Given the description of an element on the screen output the (x, y) to click on. 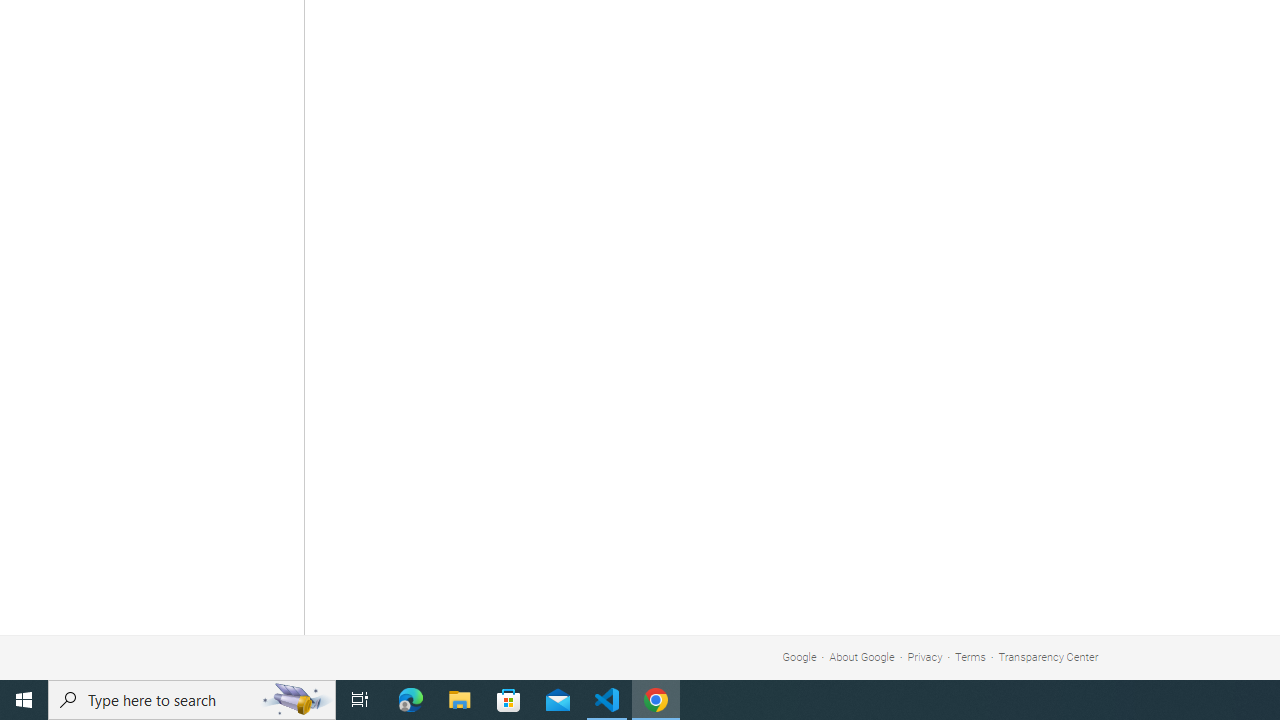
Google (799, 656)
About Google (861, 656)
Privacy (925, 656)
Transparency Center (1048, 656)
Terms (969, 656)
